Given the description of an element on the screen output the (x, y) to click on. 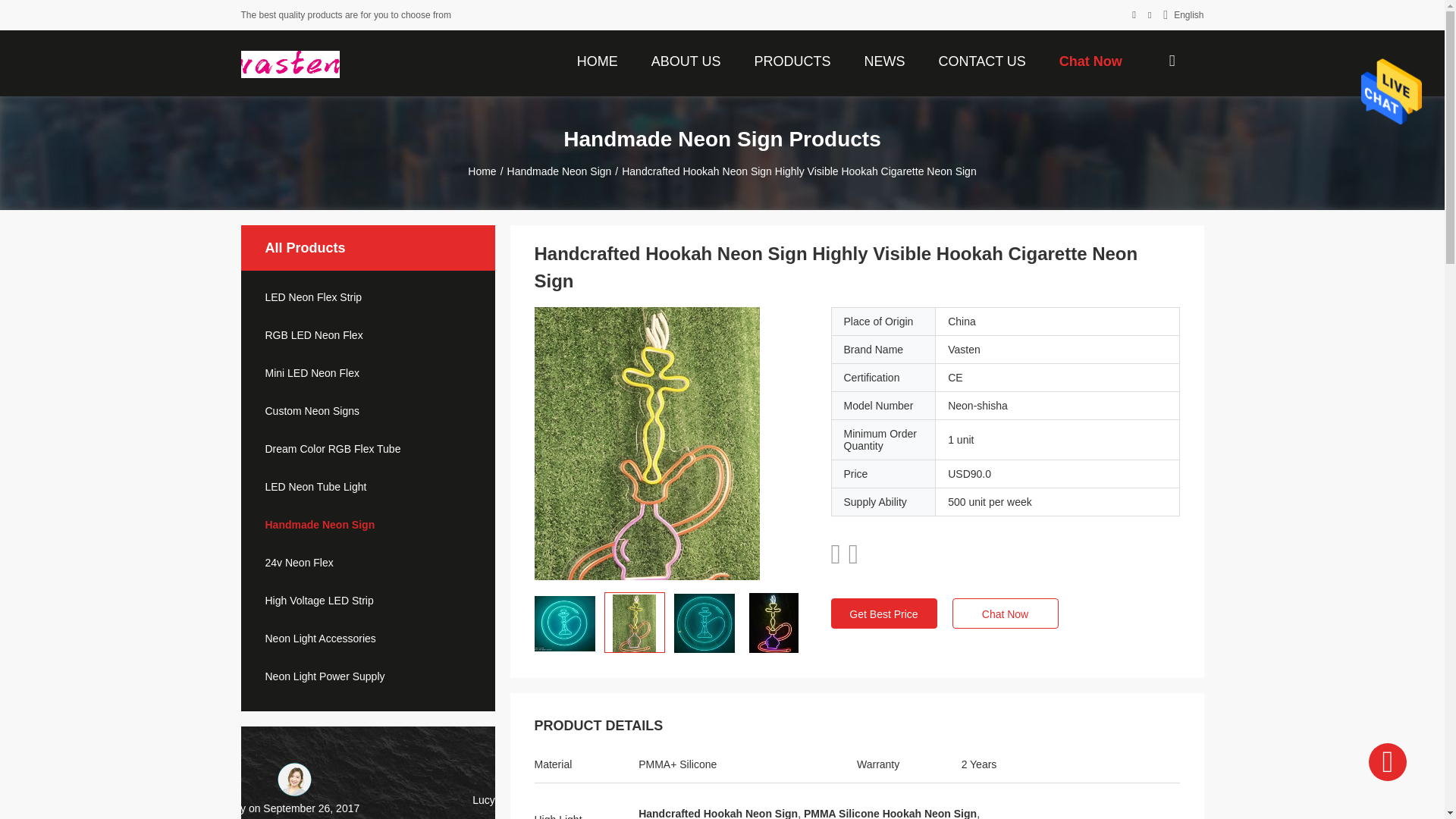
Products (792, 60)
Chat Now (1090, 60)
ABOUT US (686, 60)
RGB LED Neon Flex (368, 335)
NEWS (884, 60)
Home (597, 60)
Handmade Neon Sign (558, 171)
Shenzhen Vasten lighting Co.,ltd (290, 63)
Home (481, 171)
Mini LED Neon Flex (368, 373)
Handmade Neon Sign (368, 524)
Custom Neon Signs (368, 410)
Dream Color RGB Flex Tube (368, 448)
HOME (597, 60)
24v Neon Flex (368, 562)
